Given the description of an element on the screen output the (x, y) to click on. 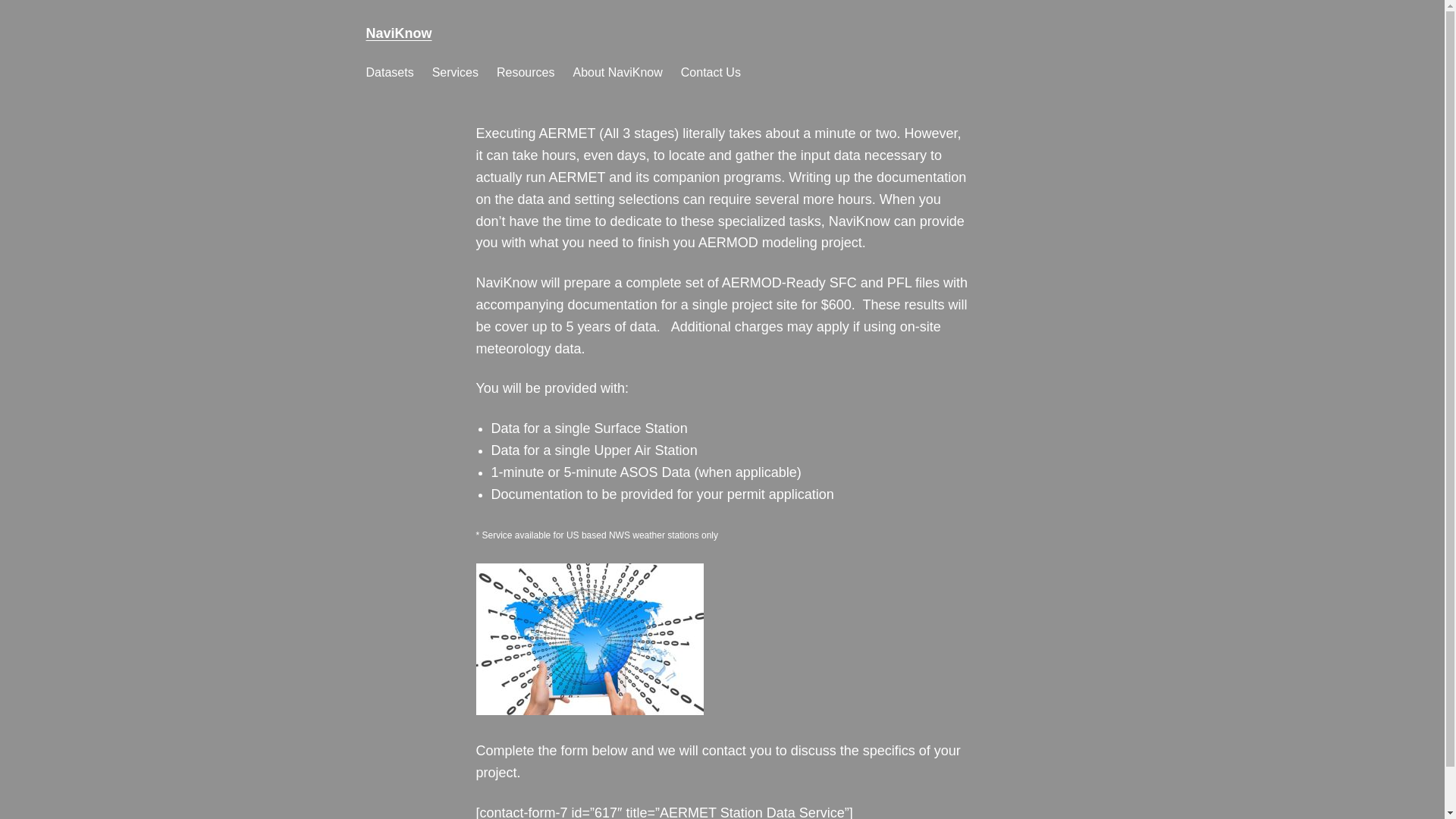
NaviKnow (397, 32)
Datasets (389, 72)
About NaviKnow (617, 72)
Services (455, 72)
Contact Us (711, 72)
Resources (525, 72)
